Given the description of an element on the screen output the (x, y) to click on. 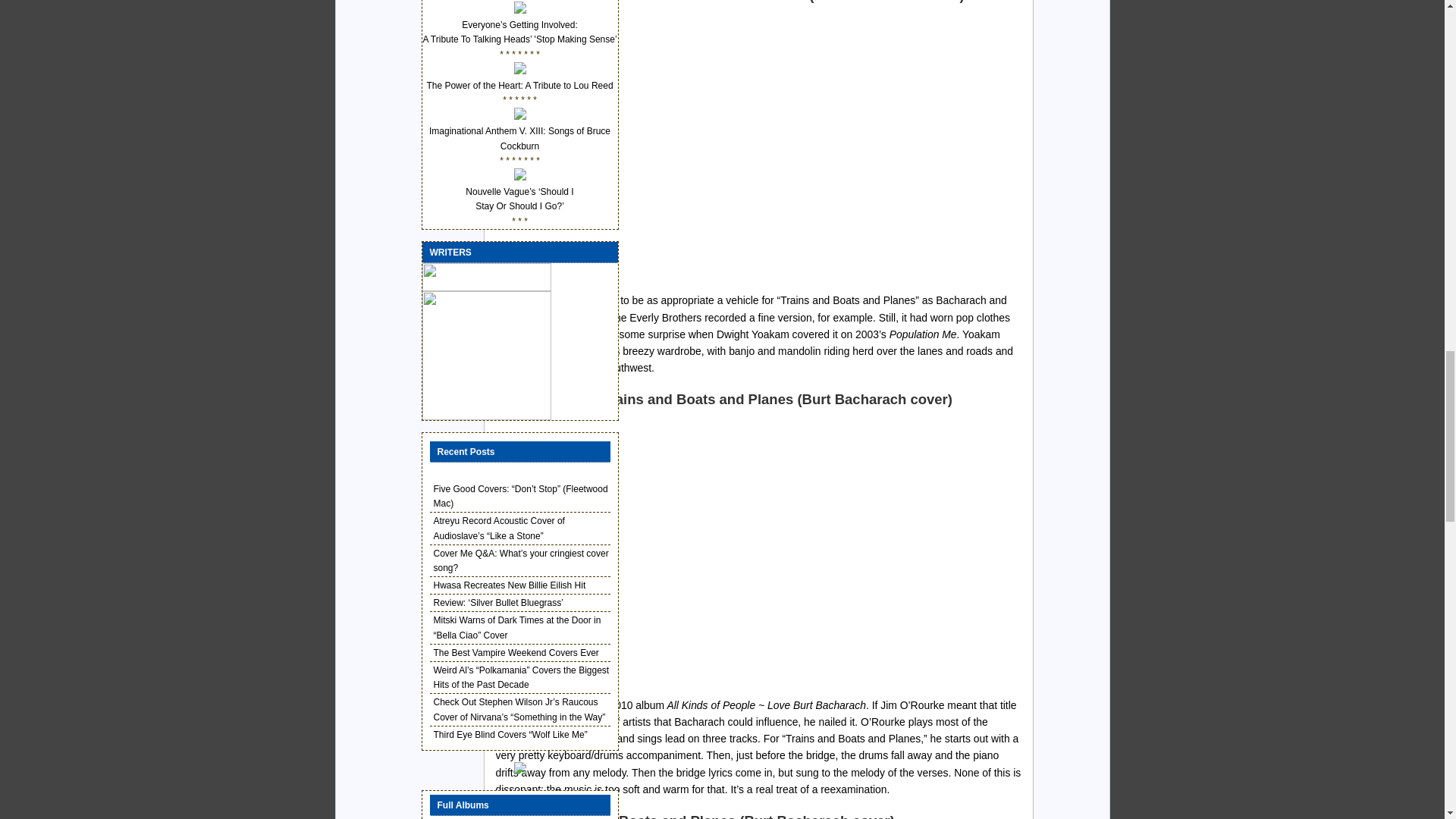
YouTube video player (732, 143)
YouTube video player (732, 547)
